Given the description of an element on the screen output the (x, y) to click on. 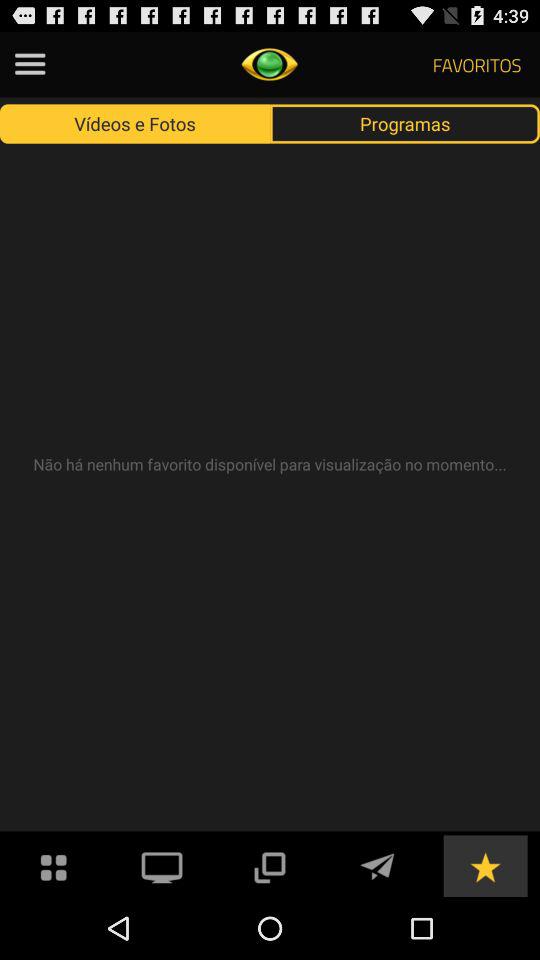
menu (29, 64)
